Given the description of an element on the screen output the (x, y) to click on. 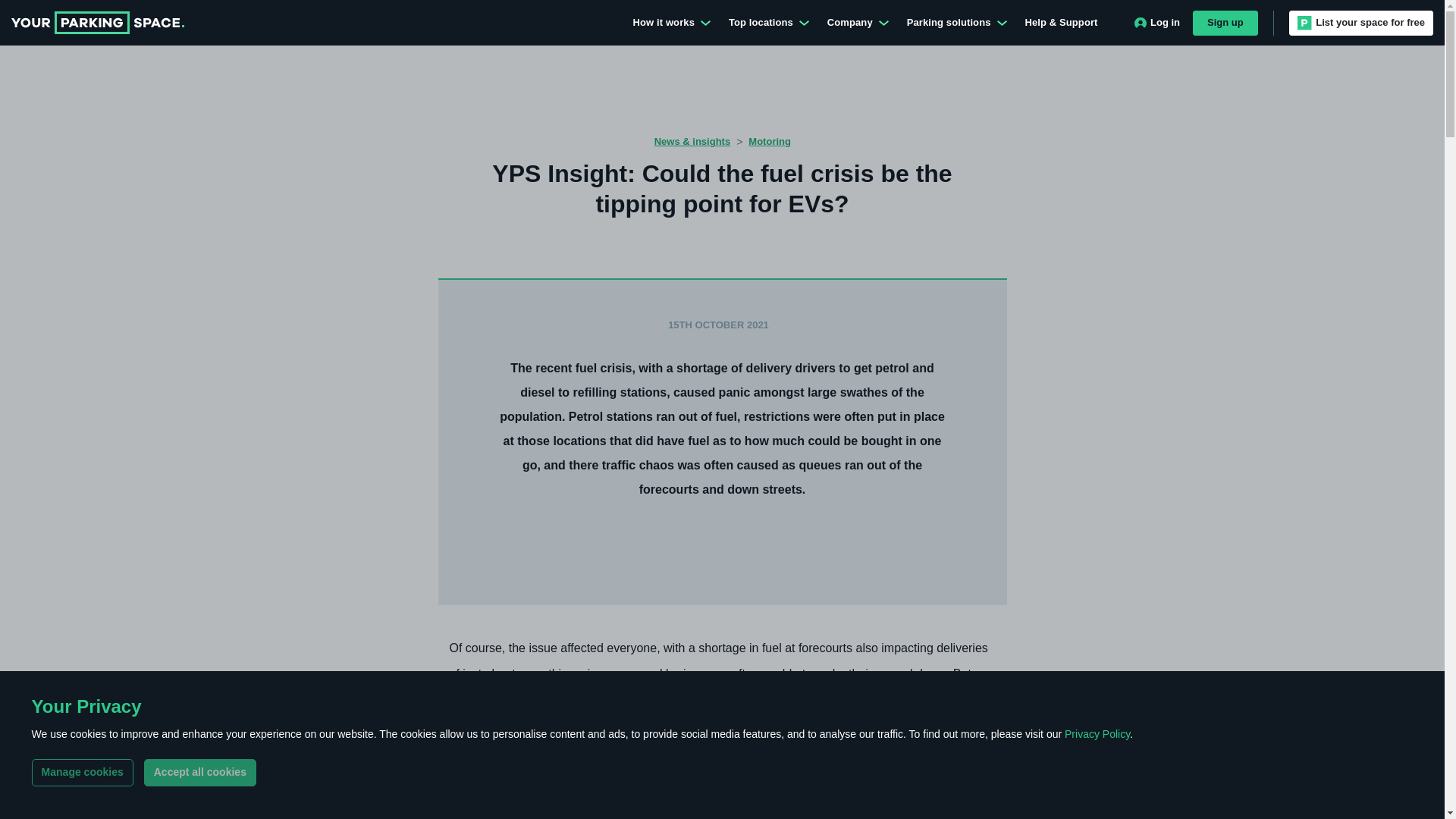
How it works (671, 22)
Top locations (768, 22)
Go to the homepage (97, 22)
Company (858, 22)
